Given the description of an element on the screen output the (x, y) to click on. 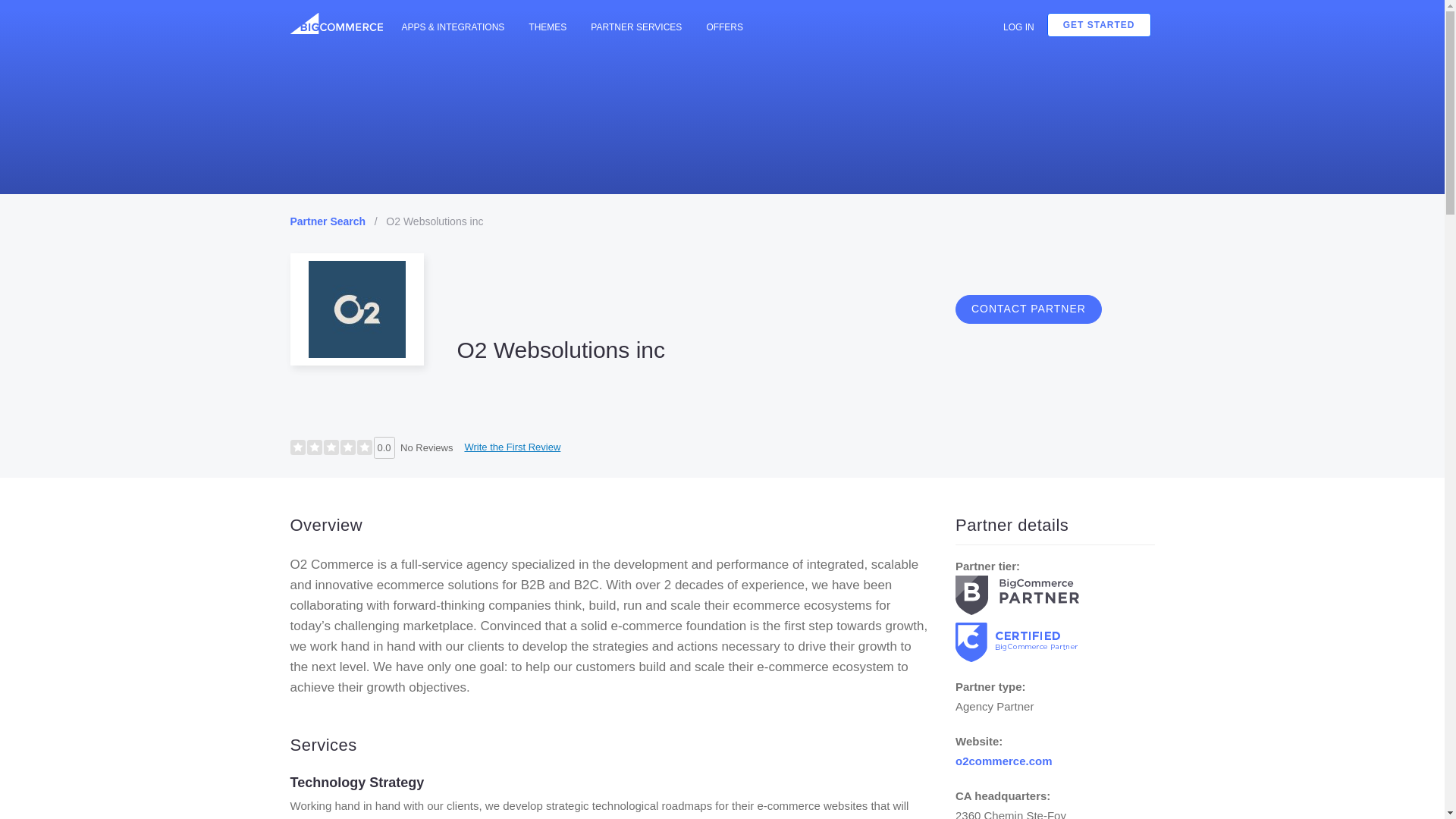
CONTACT PARTNER (1028, 308)
Write the First Review (512, 446)
Partner Search (327, 221)
GET STARTED (1098, 24)
THEMES (547, 27)
LOG IN (1018, 27)
Technology Strategy (356, 782)
Technology Strategy (356, 782)
OFFERS (724, 27)
PARTNER SERVICES (636, 27)
